Given the description of an element on the screen output the (x, y) to click on. 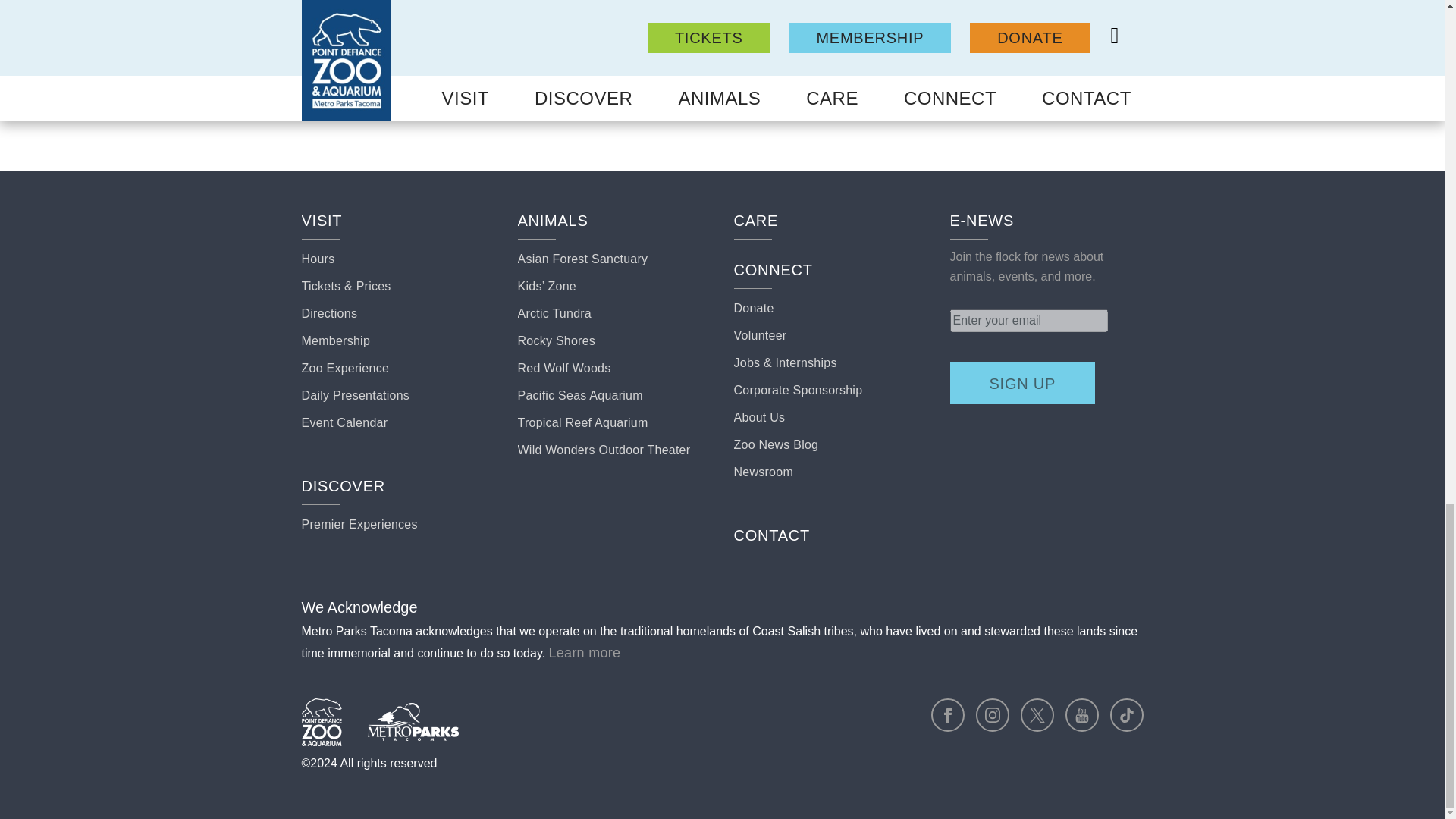
TikTok (1125, 715)
Facebook (947, 715)
Twitter (1037, 715)
Sign Up (1022, 383)
Youtube (1082, 715)
Instagram (992, 715)
